Given the description of an element on the screen output the (x, y) to click on. 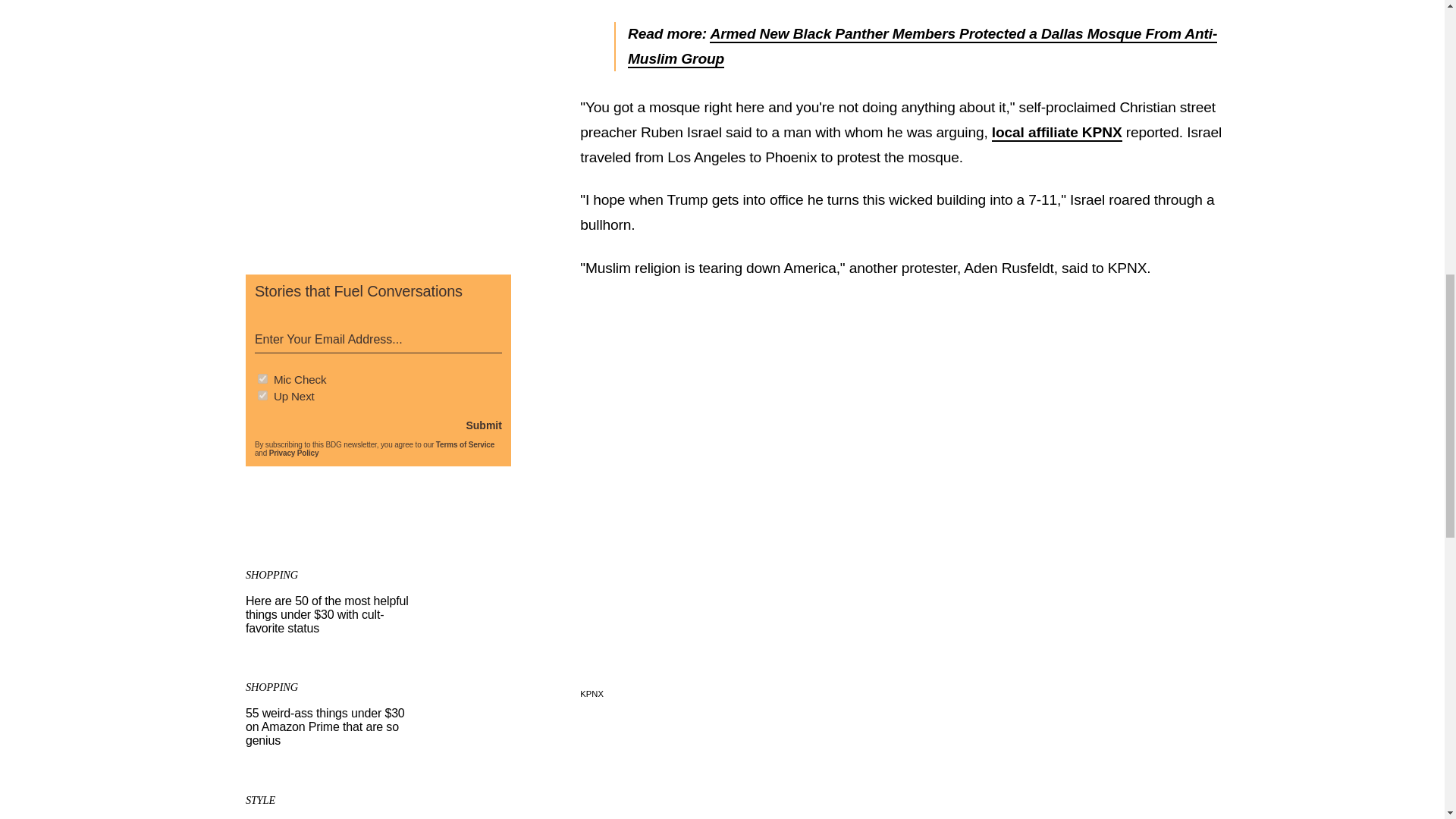
local affiliate KPNX (1056, 132)
Privacy Policy (293, 452)
Terms of Service (465, 444)
Submit (482, 425)
